Given the description of an element on the screen output the (x, y) to click on. 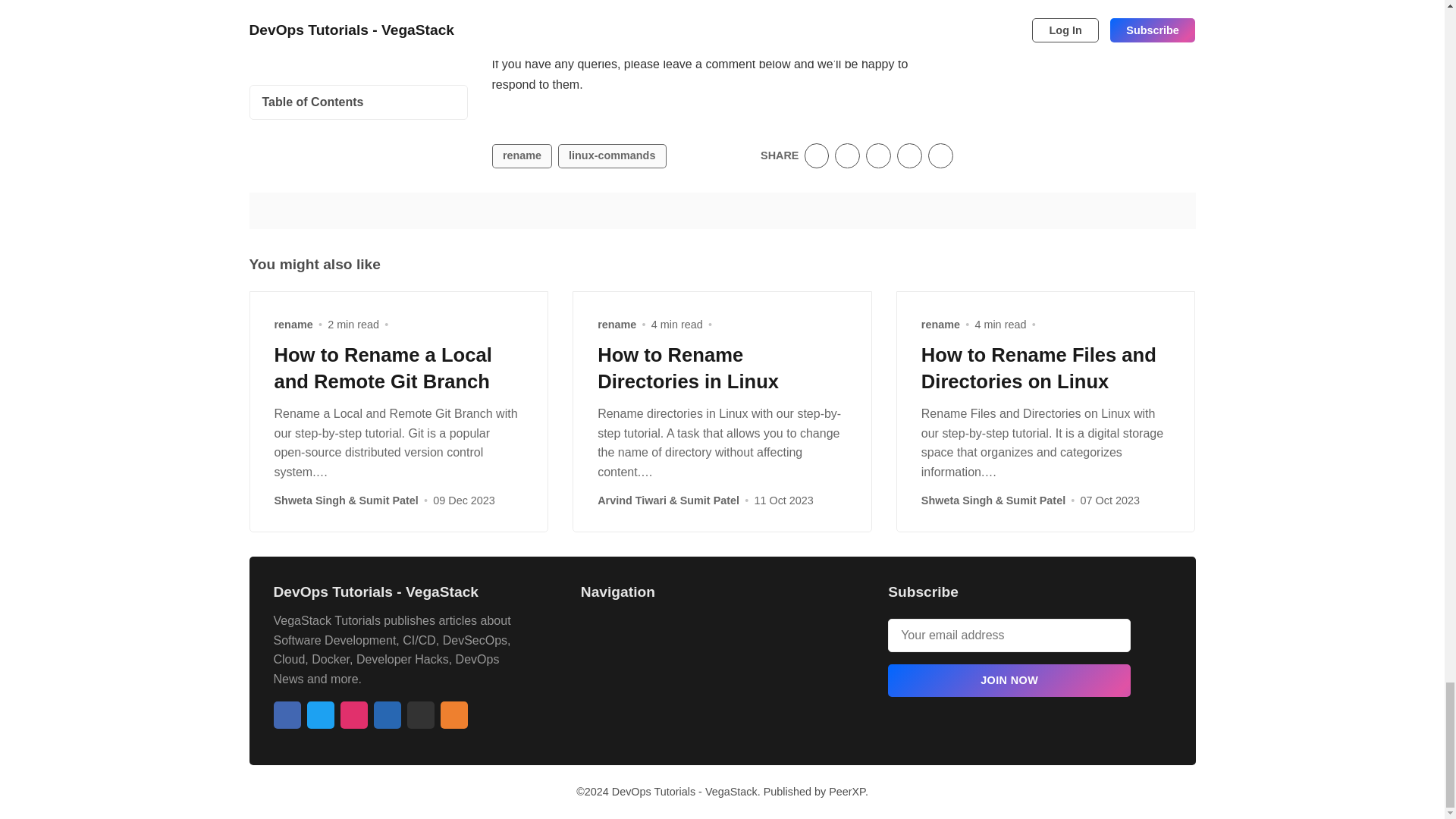
Share on Twitter (817, 155)
linux-commands (611, 156)
Share on Linkedin (878, 155)
Facebook (286, 714)
Share on Facebook (847, 155)
Share by email (908, 155)
Github (419, 714)
Instagram (352, 714)
Copy to clipboard (940, 155)
rename (521, 156)
